Given the description of an element on the screen output the (x, y) to click on. 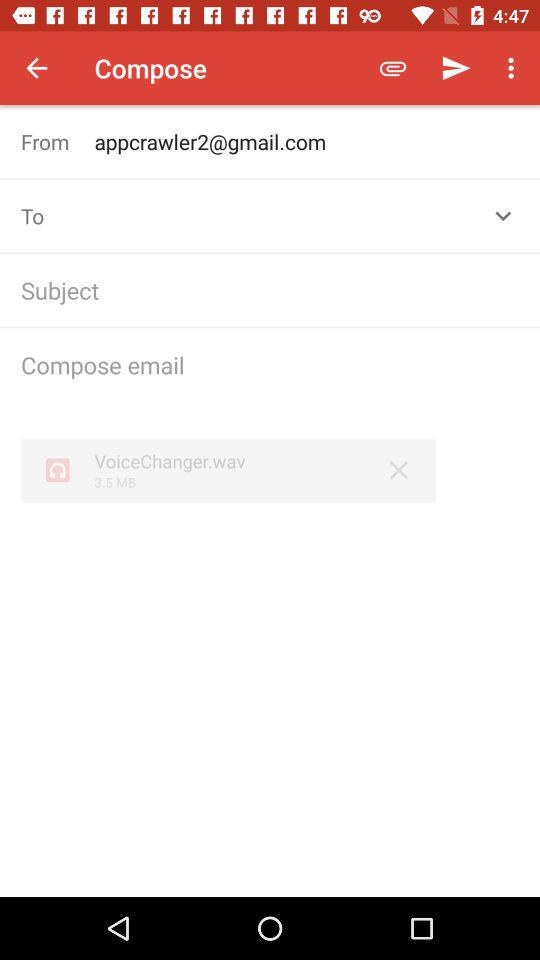
press item above appcrawler2@gmail.com (455, 67)
